Given the description of an element on the screen output the (x, y) to click on. 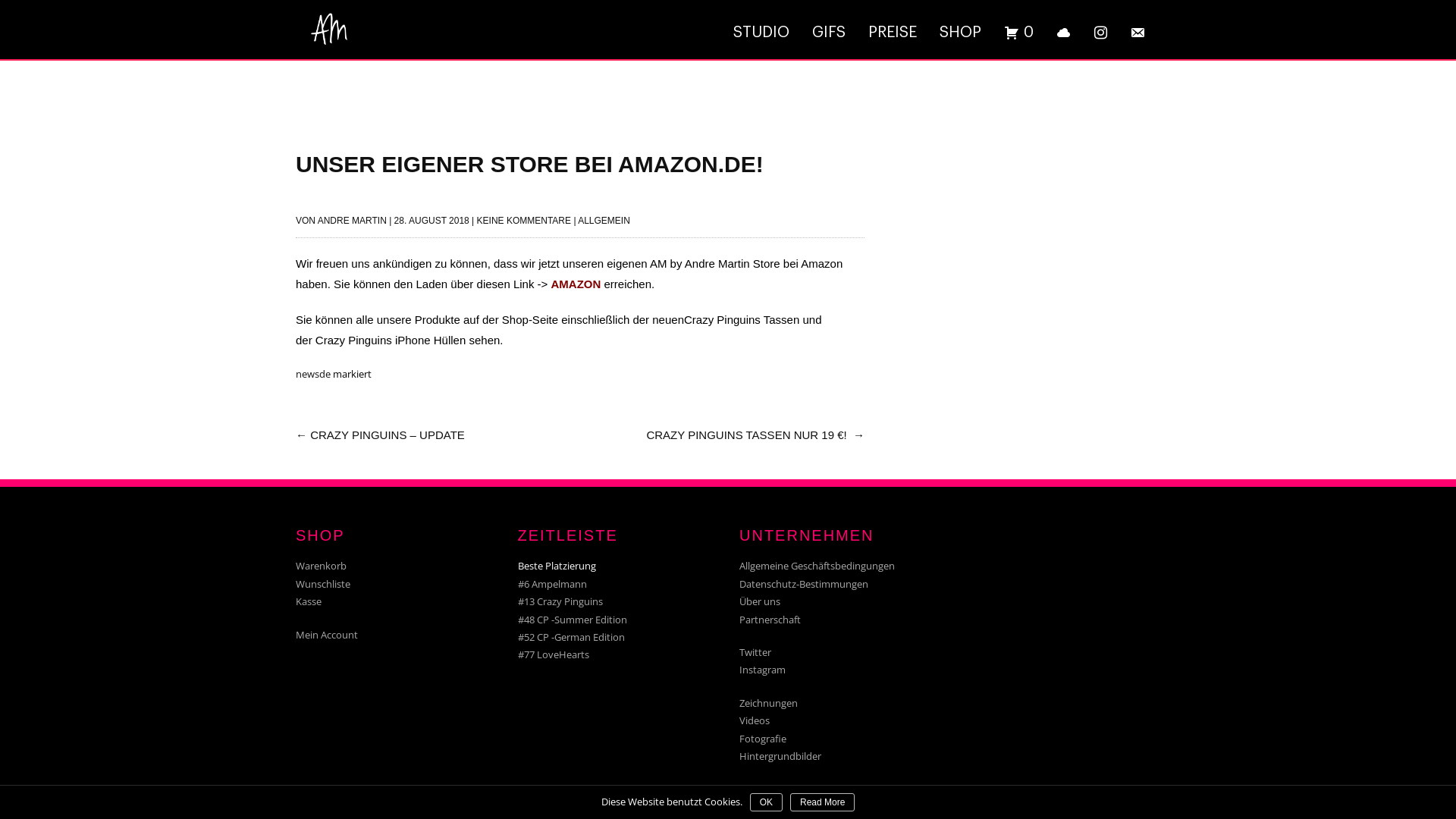
newsde Element type: text (312, 373)
Fotografie Element type: text (762, 738)
Warenkorb Element type: text (320, 565)
UNSER EIGENER STORE BEI AMAZON.DE! Element type: text (529, 163)
Newsroom Element type: text (764, 806)
Videos Element type: text (754, 720)
Read More Element type: text (822, 802)
#77 LoveHearts Element type: text (552, 654)
#6 Ampelmann Element type: text (551, 583)
Welt Tassen Karte Element type: text (779, 788)
Datenschutz-Bestimmungen Element type: text (803, 583)
GIFS Element type: text (828, 32)
Mein Account Element type: text (326, 634)
Hintergrundbilder Element type: text (780, 755)
0 Element type: text (1018, 32)
ALLGEMEIN Element type: text (603, 220)
#13 Crazy Pinguins Element type: text (559, 601)
Twitter Element type: text (755, 651)
28. AUGUST 2018 Element type: text (431, 220)
KEINE KOMMENTARE Element type: text (523, 220)
#52 CP -German Edition Element type: text (570, 636)
Zeichnungen Element type: text (768, 702)
PREISE Element type: text (892, 32)
Partnerschaft Element type: text (769, 619)
Wunschliste Element type: text (322, 583)
#48 CP -Summer Edition Element type: text (571, 619)
ANDRE MARTIN Element type: text (351, 220)
SHOP Element type: text (959, 32)
AMAZON Element type: text (576, 283)
Instagram Element type: text (762, 669)
STUDIO Element type: text (761, 32)
Kasse Element type: text (308, 601)
OK Element type: text (765, 802)
